Given the description of an element on the screen output the (x, y) to click on. 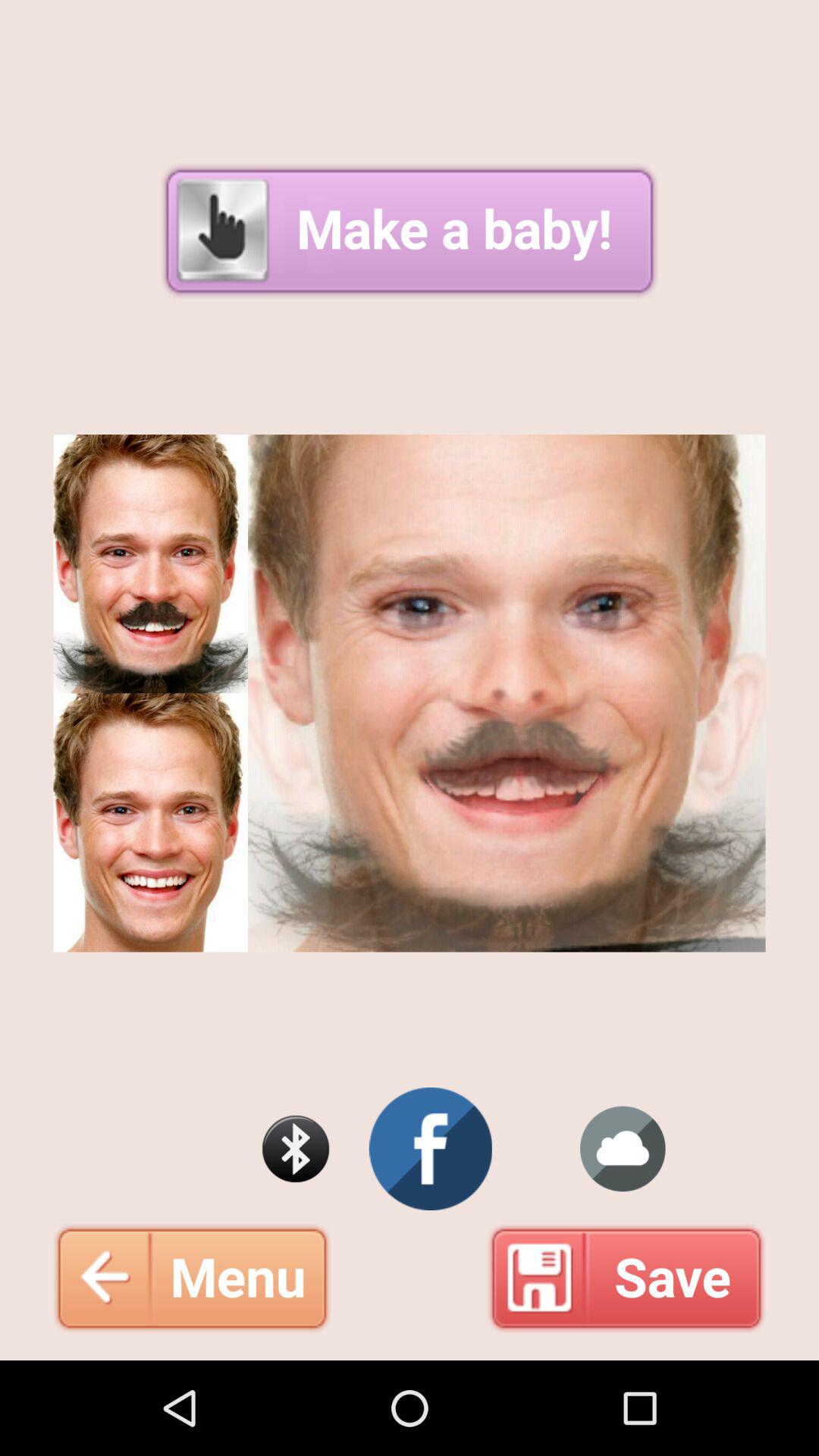
toggle bluetooth (295, 1148)
